Given the description of an element on the screen output the (x, y) to click on. 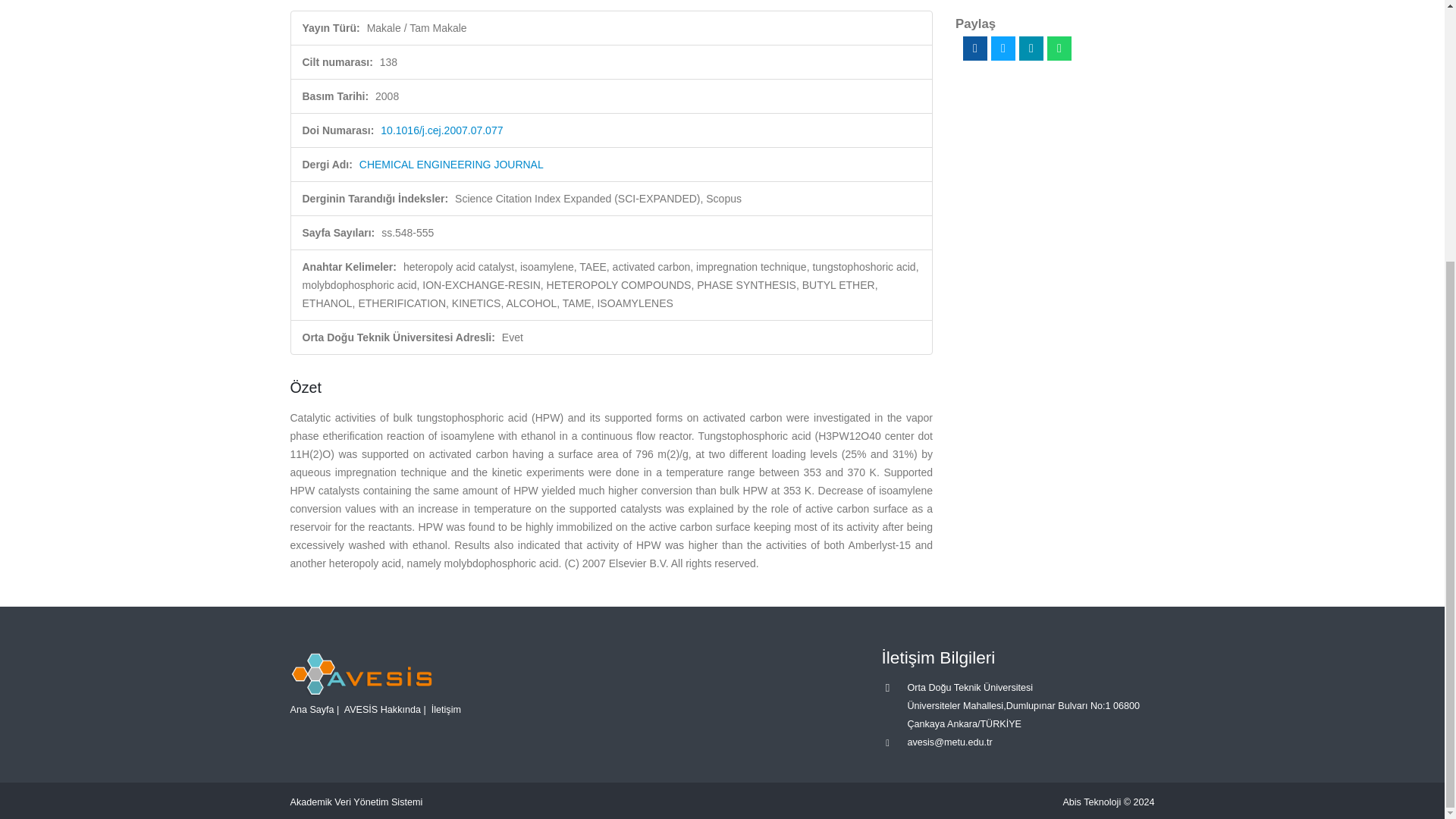
Abis Teknoloji (1091, 801)
CHEMICAL ENGINEERING JOURNAL (451, 164)
Ana Sayfa (311, 708)
